Given the description of an element on the screen output the (x, y) to click on. 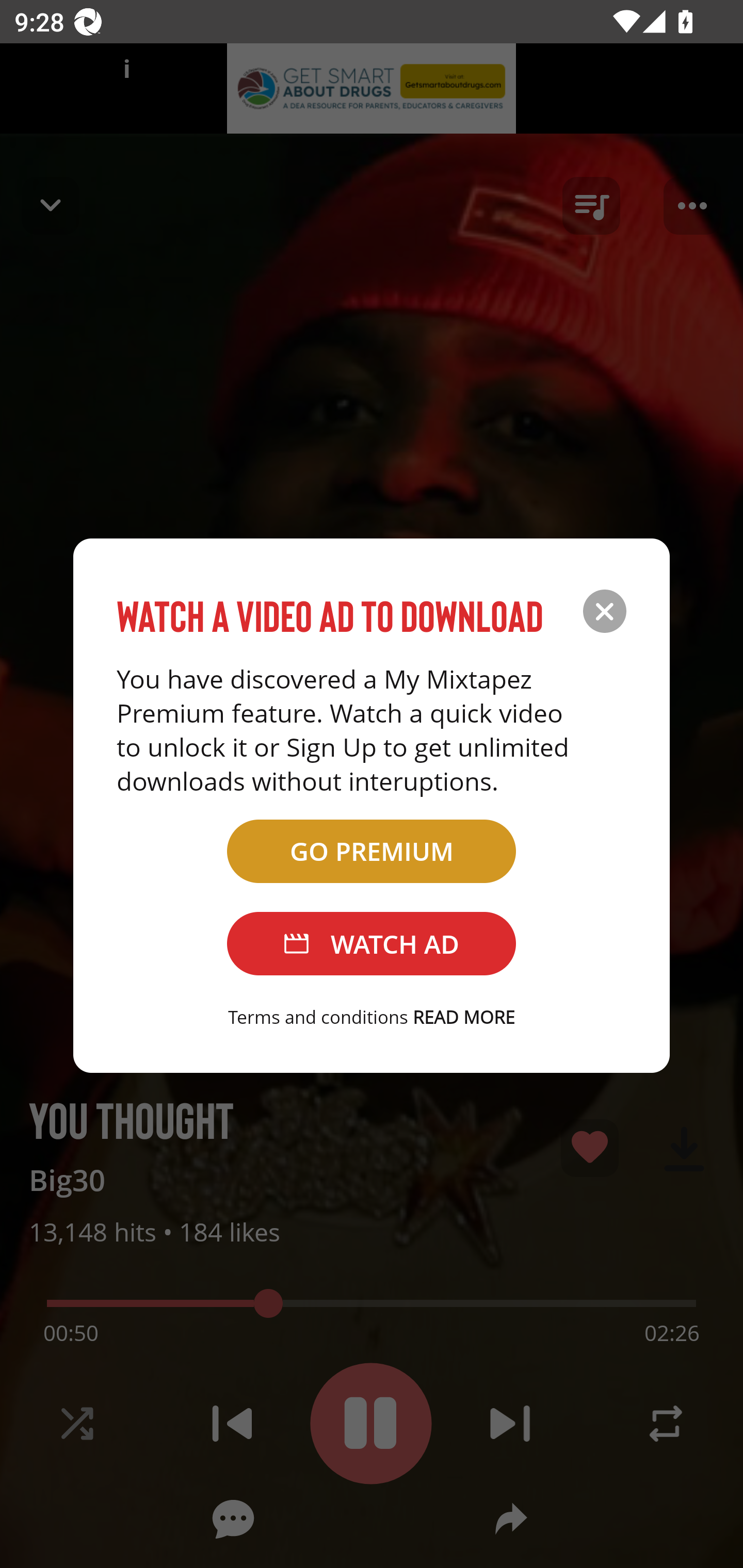
GO PREMIUM (371, 851)
WATCH AD (371, 943)
Terms and conditions READ MORE (371, 1016)
